Given the description of an element on the screen output the (x, y) to click on. 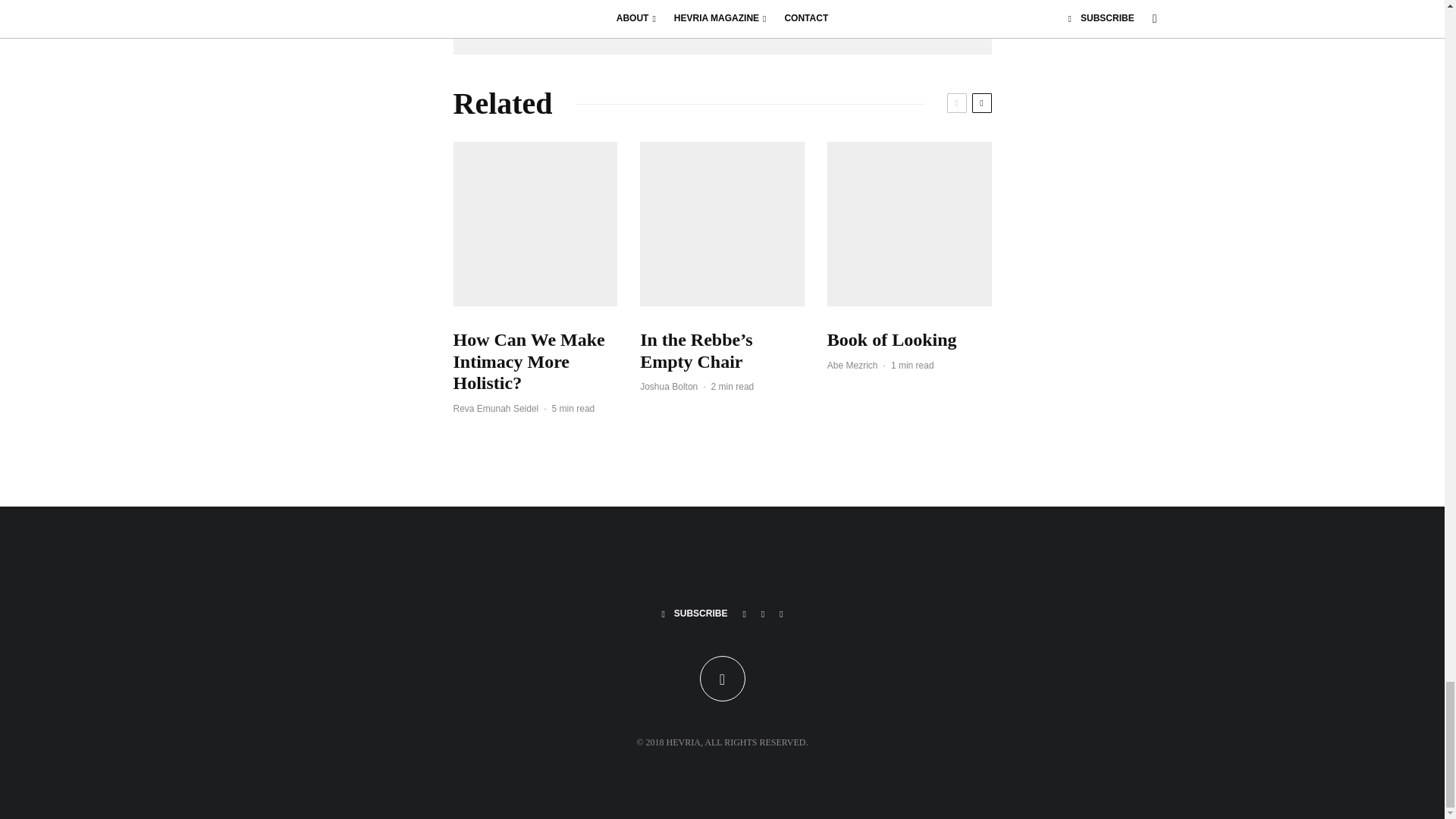
How Can We Make Intimacy More Holistic? (534, 361)
